Given the description of an element on the screen output the (x, y) to click on. 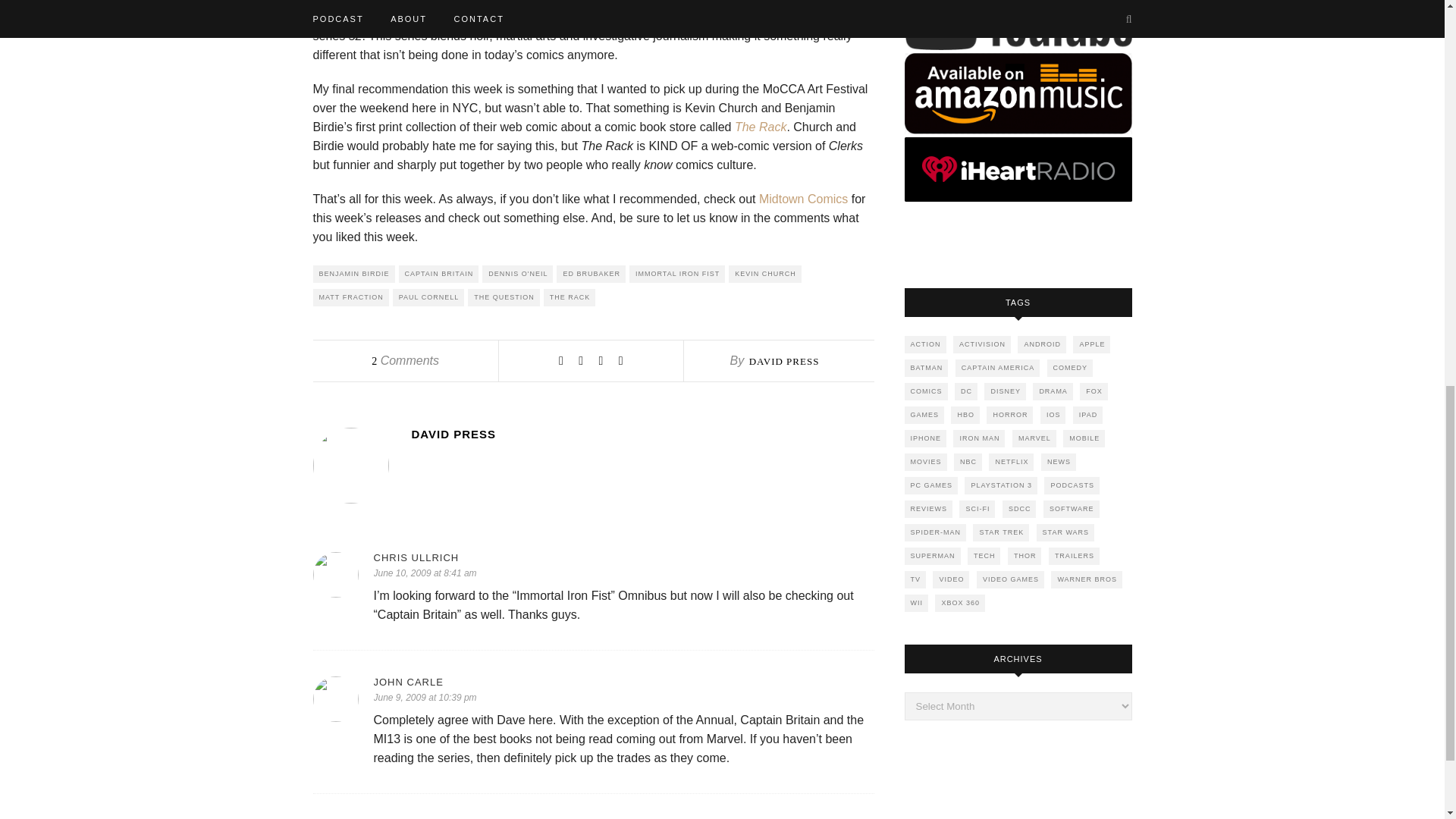
THE QUESTION (503, 297)
PAUL CORNELL (428, 297)
BENJAMIN BIRDIE (353, 273)
Posts by David Press (641, 433)
2 Comments (405, 359)
Posts by David Press (784, 360)
ED BRUBAKER (591, 273)
MATT FRACTION (350, 297)
Midtown Comics (802, 198)
DENNIS O'NEIL (517, 273)
The Rack (760, 126)
DAVID PRESS (641, 433)
CAPTAIN BRITAIN (438, 273)
DAVID PRESS (784, 360)
KEVIN CHURCH (765, 273)
